Given the description of an element on the screen output the (x, y) to click on. 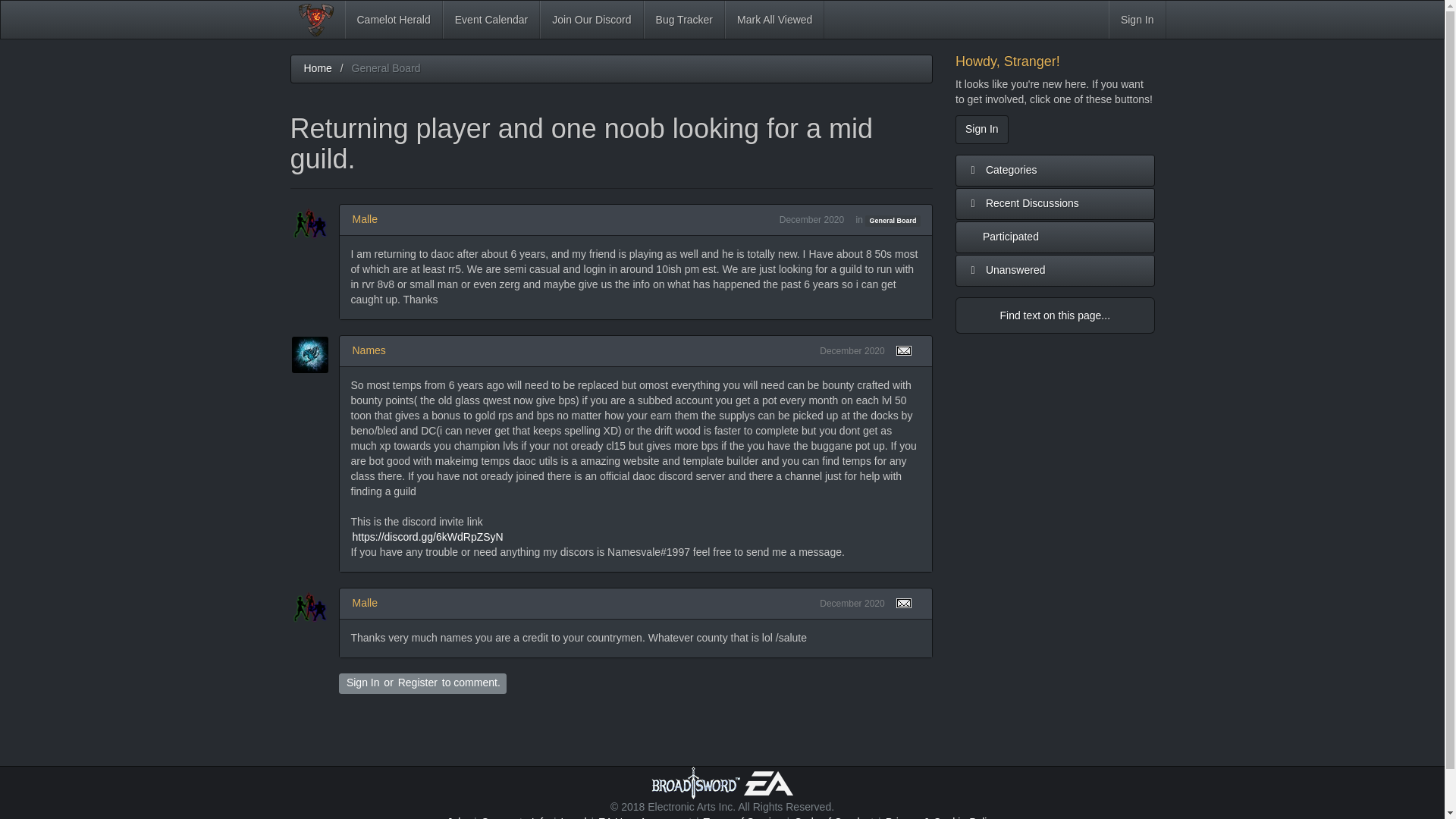
Names (368, 350)
PM (912, 350)
Event Calendar (491, 19)
Join Our Discord (591, 19)
December 2020 (811, 219)
December 27, 2020 10:37PM (851, 603)
Camelot Herald (392, 19)
Bug Tracker (684, 19)
Sign In (982, 129)
December 27, 2020 10:12PM (851, 350)
PM (912, 603)
Register (417, 682)
General Board (892, 220)
December 2020 (851, 350)
Recent Discussions (1054, 204)
